Given the description of an element on the screen output the (x, y) to click on. 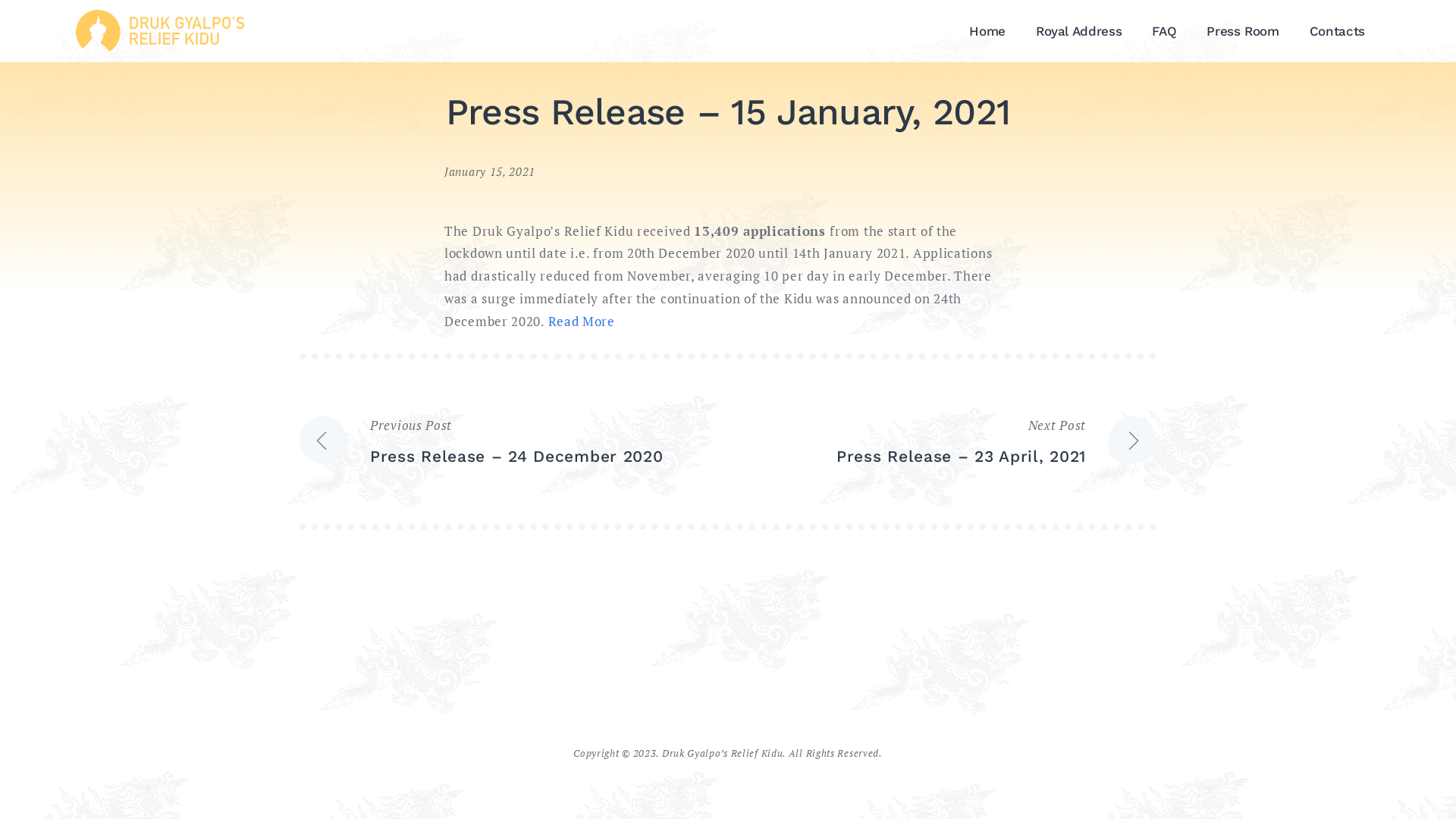
Contacts Element type: text (1337, 30)
Home Element type: text (986, 30)
Press Room Element type: text (1242, 30)
Royal Address Element type: text (1078, 30)
Read More Element type: text (580, 320)
FAQ Element type: text (1163, 30)
Druk Gyalpo's Relief Kidu Element type: text (154, 33)
